Given the description of an element on the screen output the (x, y) to click on. 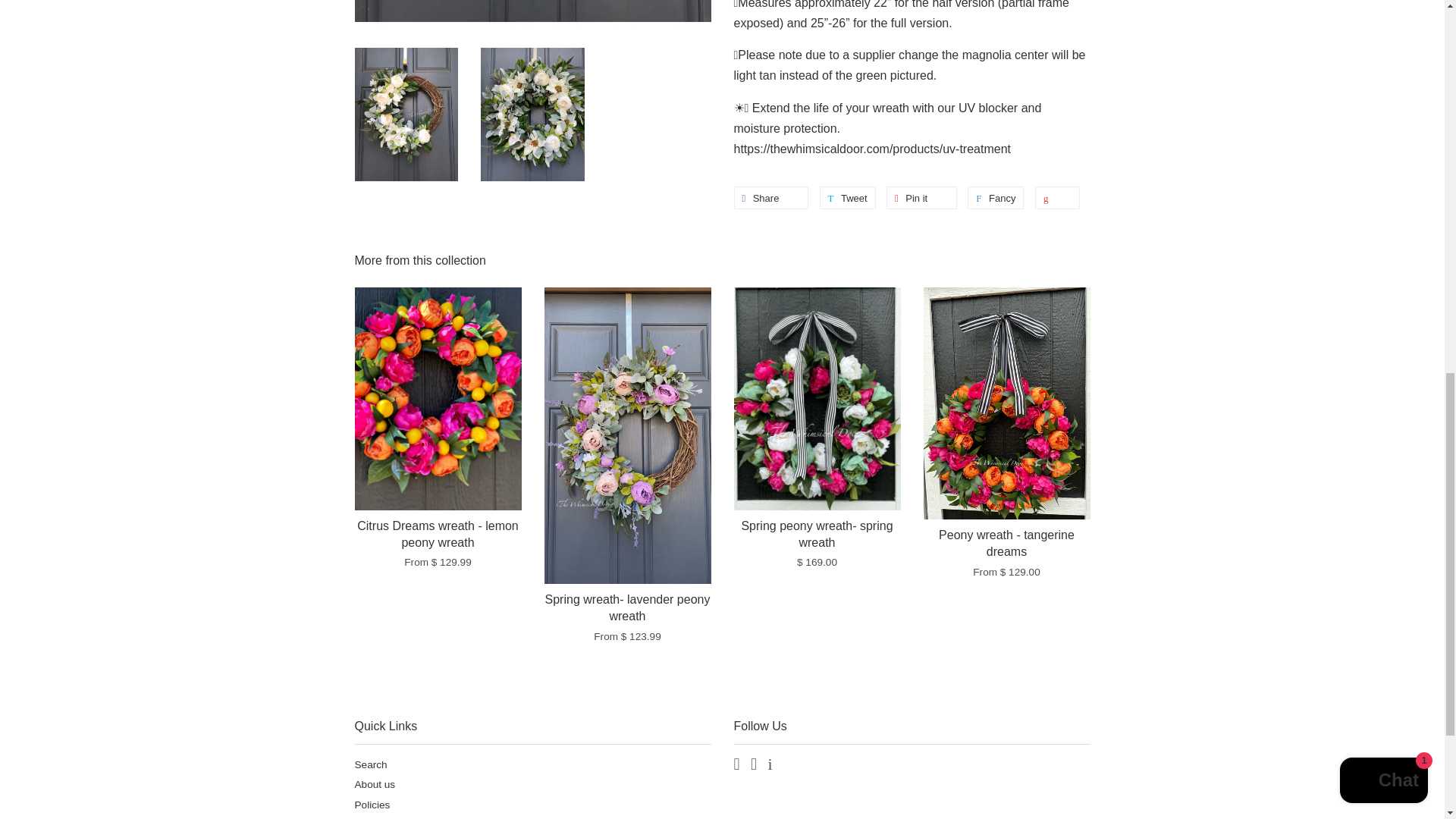
Search (371, 764)
Tweet (847, 197)
Pin it (921, 197)
Policies (372, 804)
About us (375, 784)
Fancy (995, 197)
Share (771, 197)
